Given the description of an element on the screen output the (x, y) to click on. 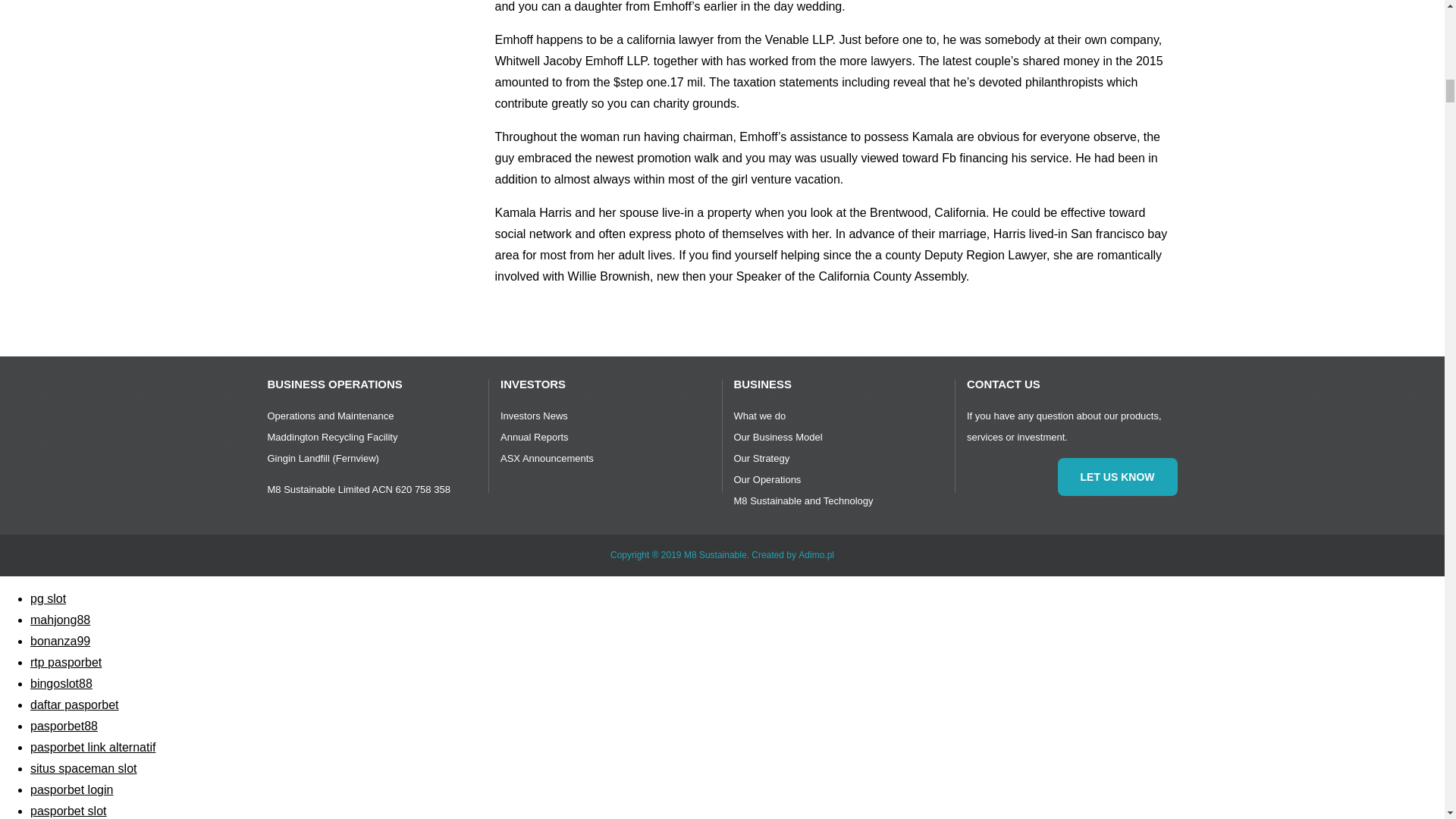
Operations and Maintenance (329, 415)
Contact us! (1116, 476)
Maddington Recycling Facility (331, 437)
Adimo.pl - Technologie internetowe (815, 554)
